Given the description of an element on the screen output the (x, y) to click on. 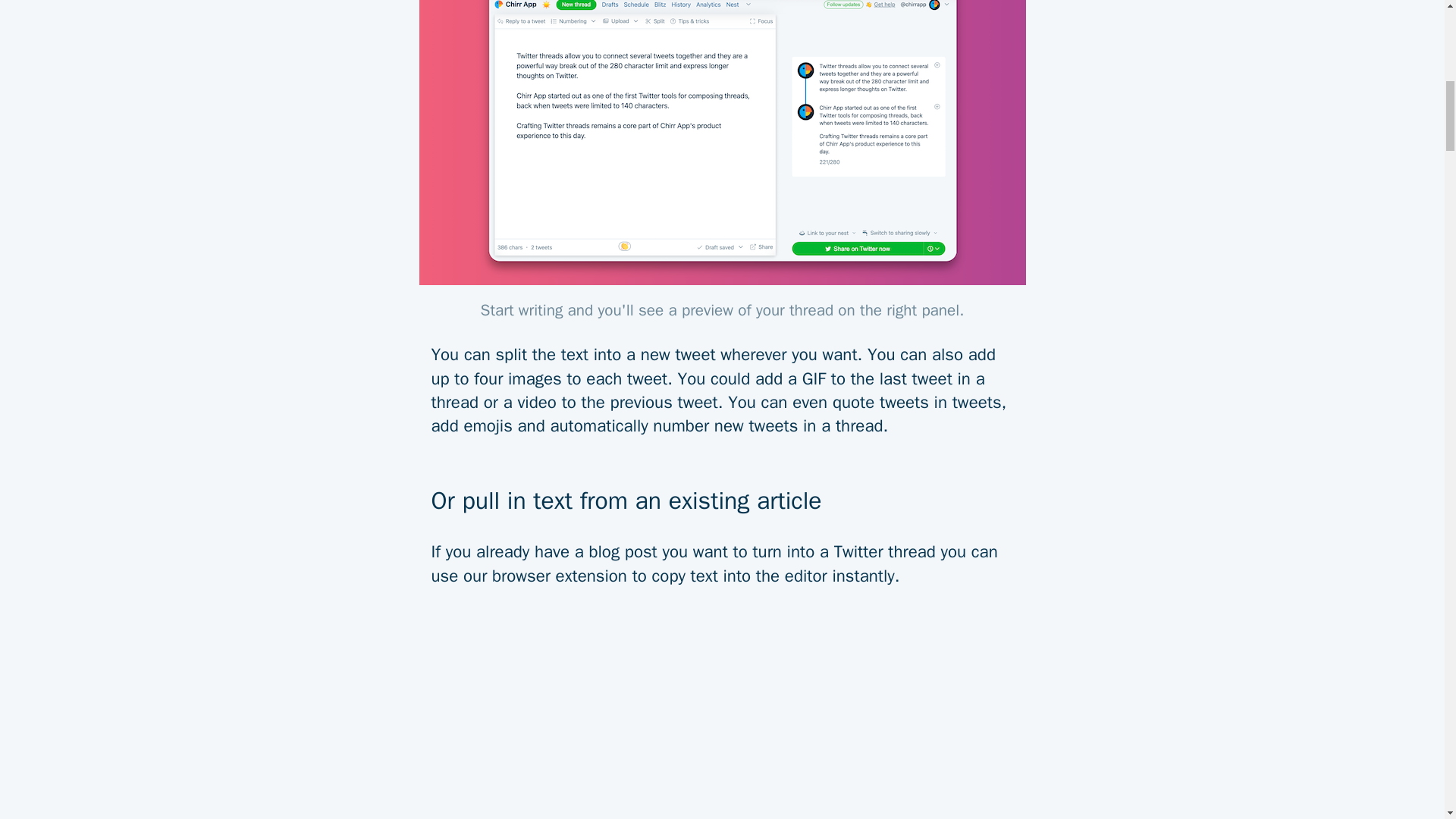
YouTube video player (721, 715)
Or pull in text from an existing article (721, 488)
